Given the description of an element on the screen output the (x, y) to click on. 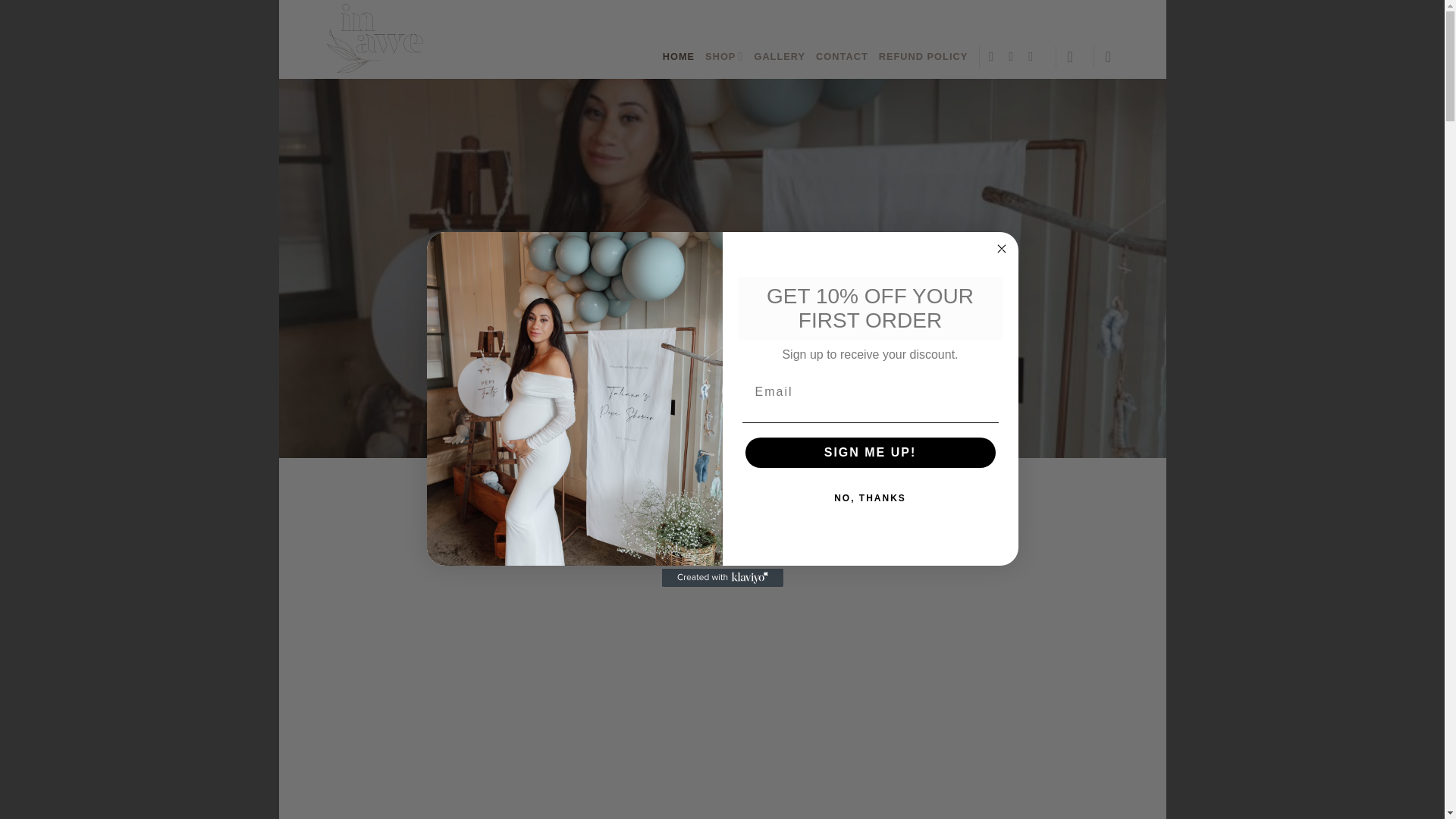
SHOP NOW (786, 399)
GET A QUOTE (665, 399)
